Given the description of an element on the screen output the (x, y) to click on. 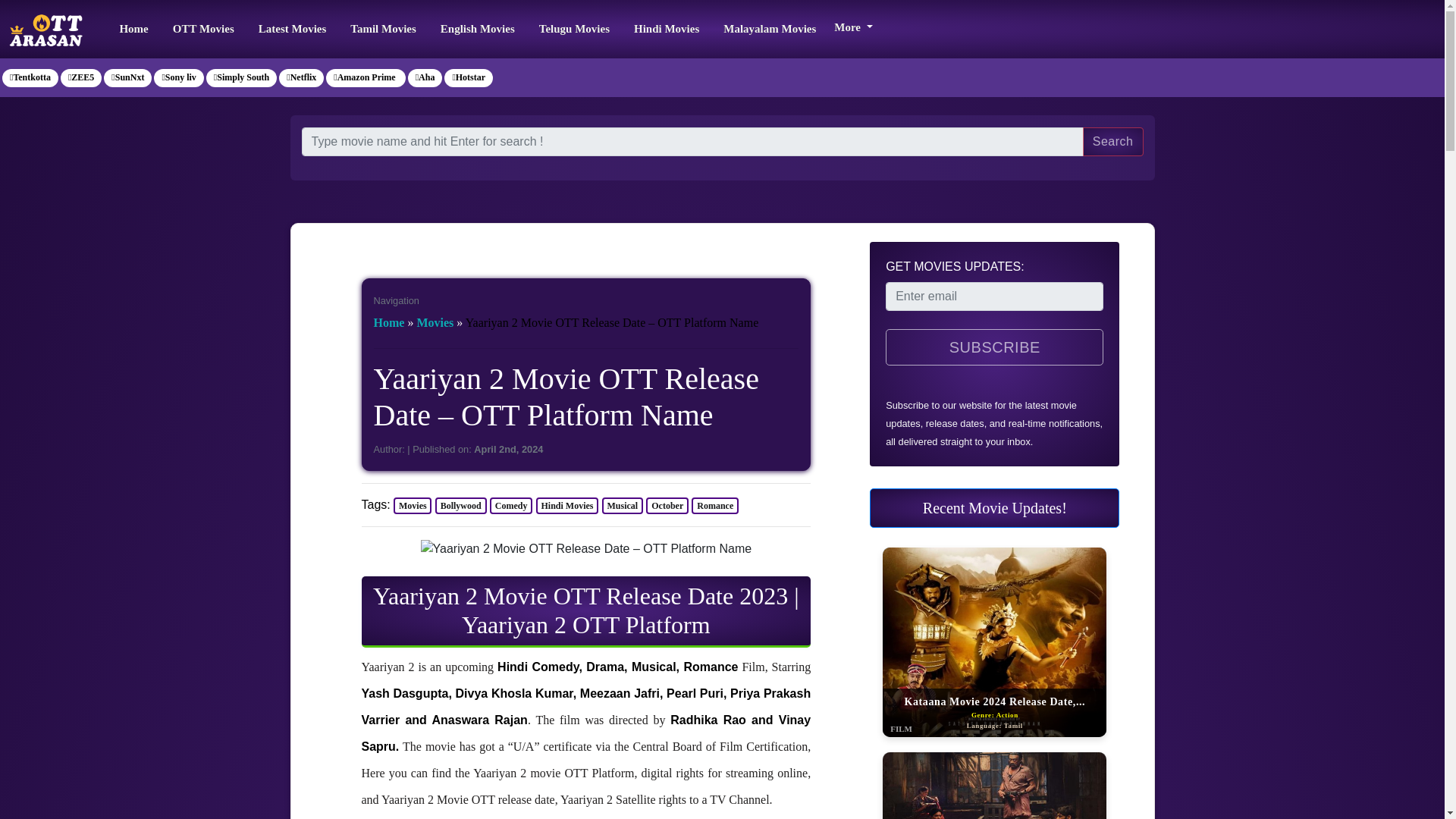
Romance (714, 505)
Movies (411, 505)
October (667, 505)
Malayalam Movies (769, 29)
English Movies (477, 29)
More (852, 25)
Bollywood (460, 505)
Hindi Movies (566, 505)
Comedy (510, 505)
Telugu Movies (573, 29)
